Given the description of an element on the screen output the (x, y) to click on. 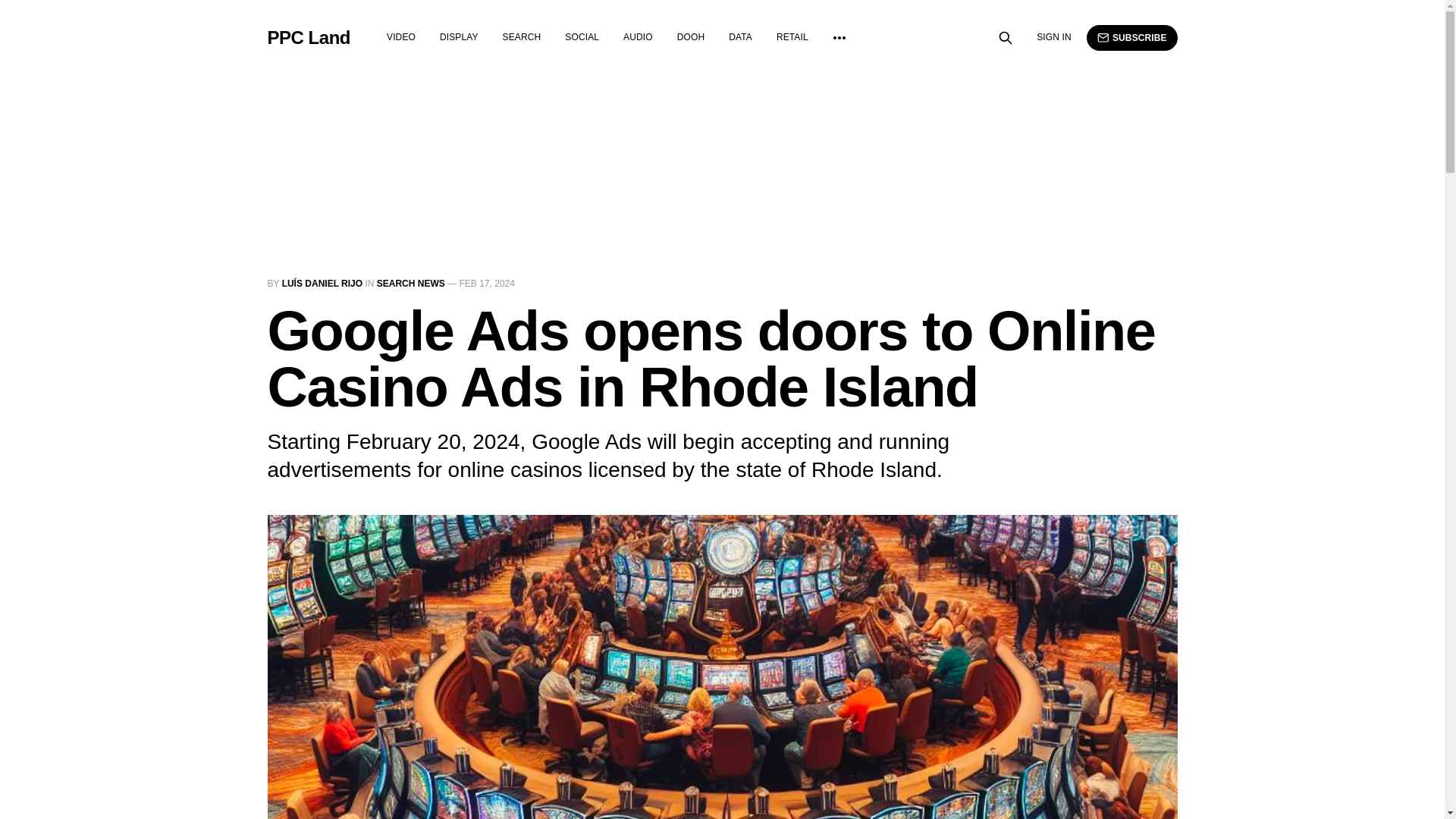
VIDEO (400, 36)
SEARCH NEWS (411, 283)
SIGN IN (1053, 37)
DISPLAY (459, 36)
AUDIO (637, 36)
RETAIL (792, 36)
DATA (740, 36)
DOOH (690, 36)
PPC Land (308, 37)
SEARCH (521, 36)
SOCIAL (581, 36)
SUBSCRIBE (1131, 37)
Advertisement (367, 183)
